Given the description of an element on the screen output the (x, y) to click on. 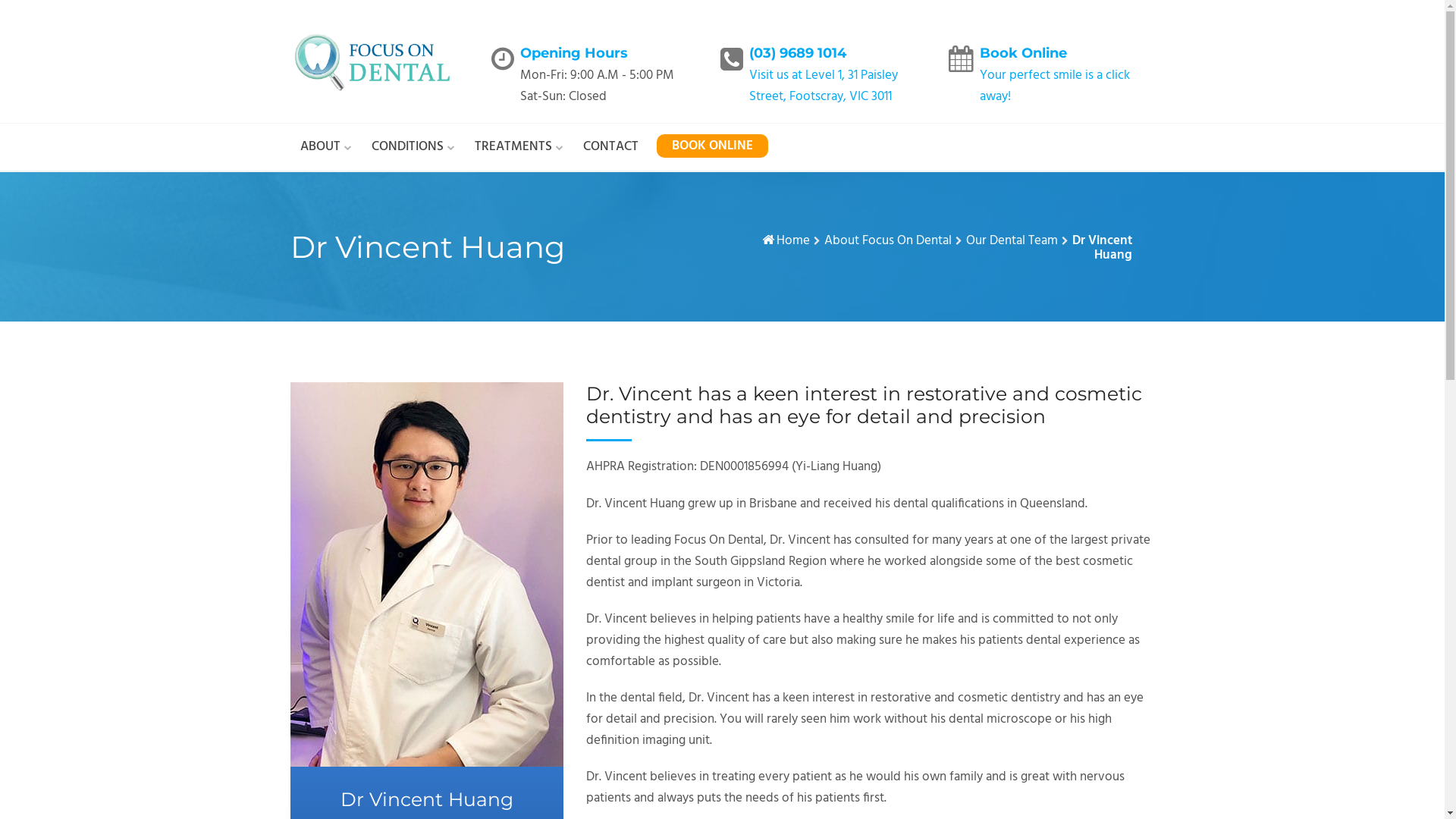
(03) 9689 1014 Element type: text (797, 52)
BOOK ONLINE Element type: text (712, 145)
CONDITIONS Element type: text (413, 146)
ABOUT Element type: text (325, 146)
Visit us at Level 1, 31 Paisley Street, Footscray, VIC 3011 Element type: text (823, 85)
About Focus On Dental Element type: text (886, 240)
Your perfect smile is a click away! Element type: text (1054, 85)
Book Online Element type: text (1022, 52)
TREATMENTS Element type: text (518, 146)
CONTACT Element type: text (609, 146)
Skip to content Element type: text (0, 0)
Our Dental Team Element type: text (1011, 240)
Home Element type: text (792, 240)
